Given the description of an element on the screen output the (x, y) to click on. 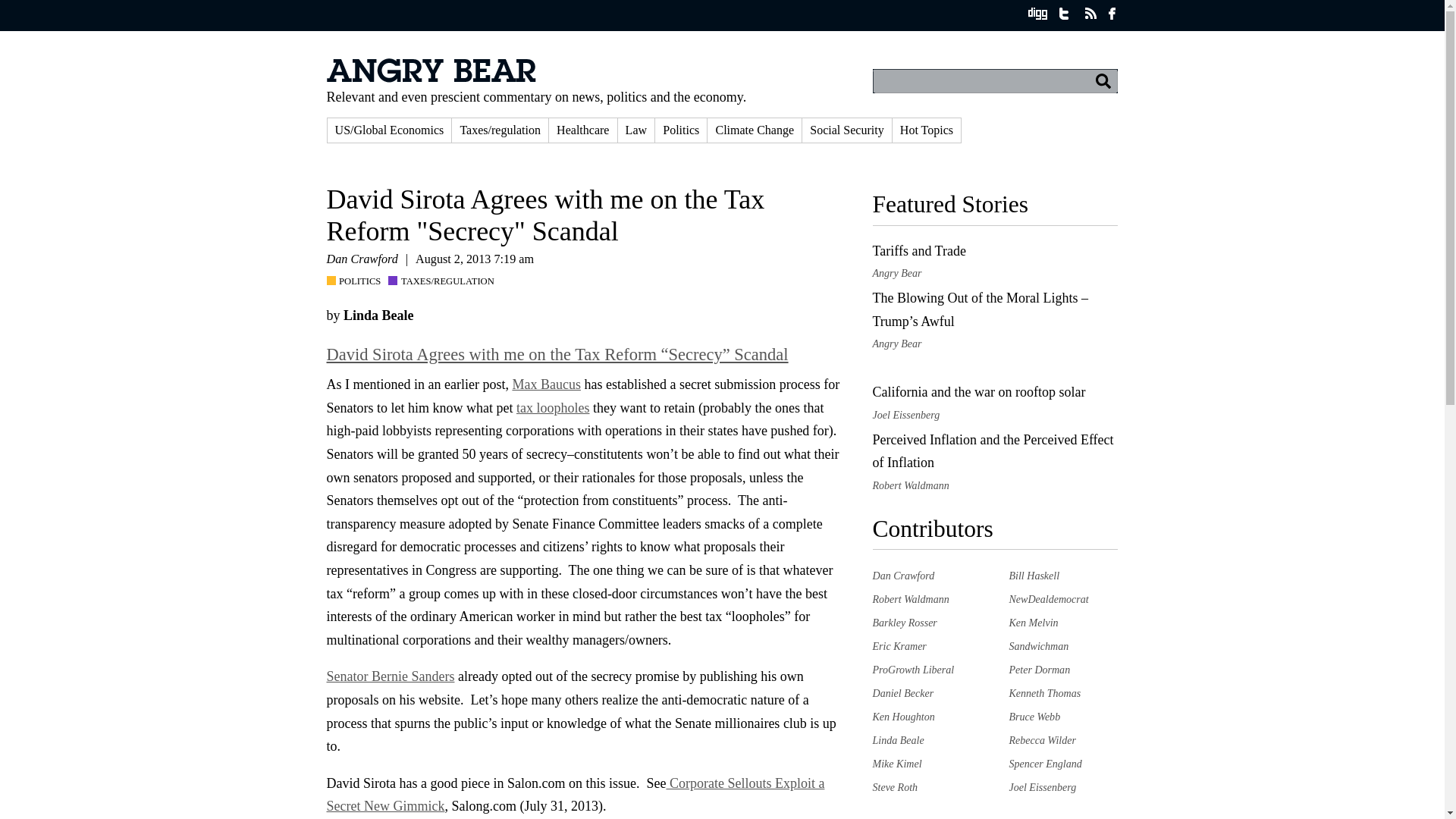
Hot Topics (926, 129)
Politics (680, 129)
tax loopholes (552, 407)
Dan Crawford (903, 575)
Social Security (846, 129)
POLITICS (357, 281)
Corporate Sellouts Exploit a Secret New Gimmick (575, 794)
Ken Houghton (903, 716)
Climate Change (754, 129)
